Given the description of an element on the screen output the (x, y) to click on. 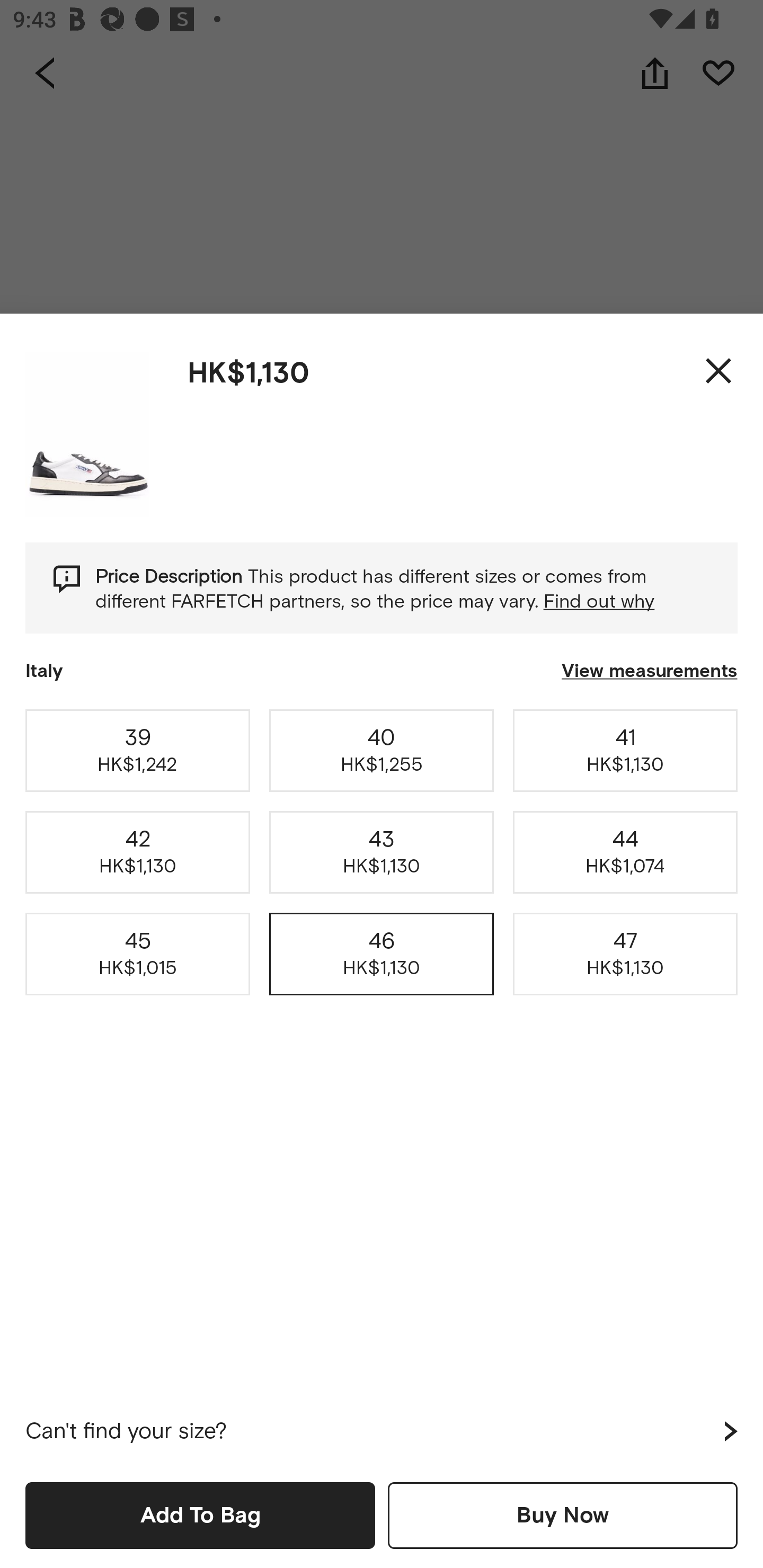
39 HK$1,242 (137, 749)
40 HK$1,255 (381, 749)
41 HK$1,130 (624, 749)
42 HK$1,130 (137, 851)
43 HK$1,130 (381, 851)
44 HK$1,074 (624, 851)
45 HK$1,015 (137, 953)
46 HK$1,130 (381, 953)
47 HK$1,130 (624, 953)
Can't find your size? (381, 1431)
Add To Bag (200, 1515)
Buy Now (562, 1515)
